Given the description of an element on the screen output the (x, y) to click on. 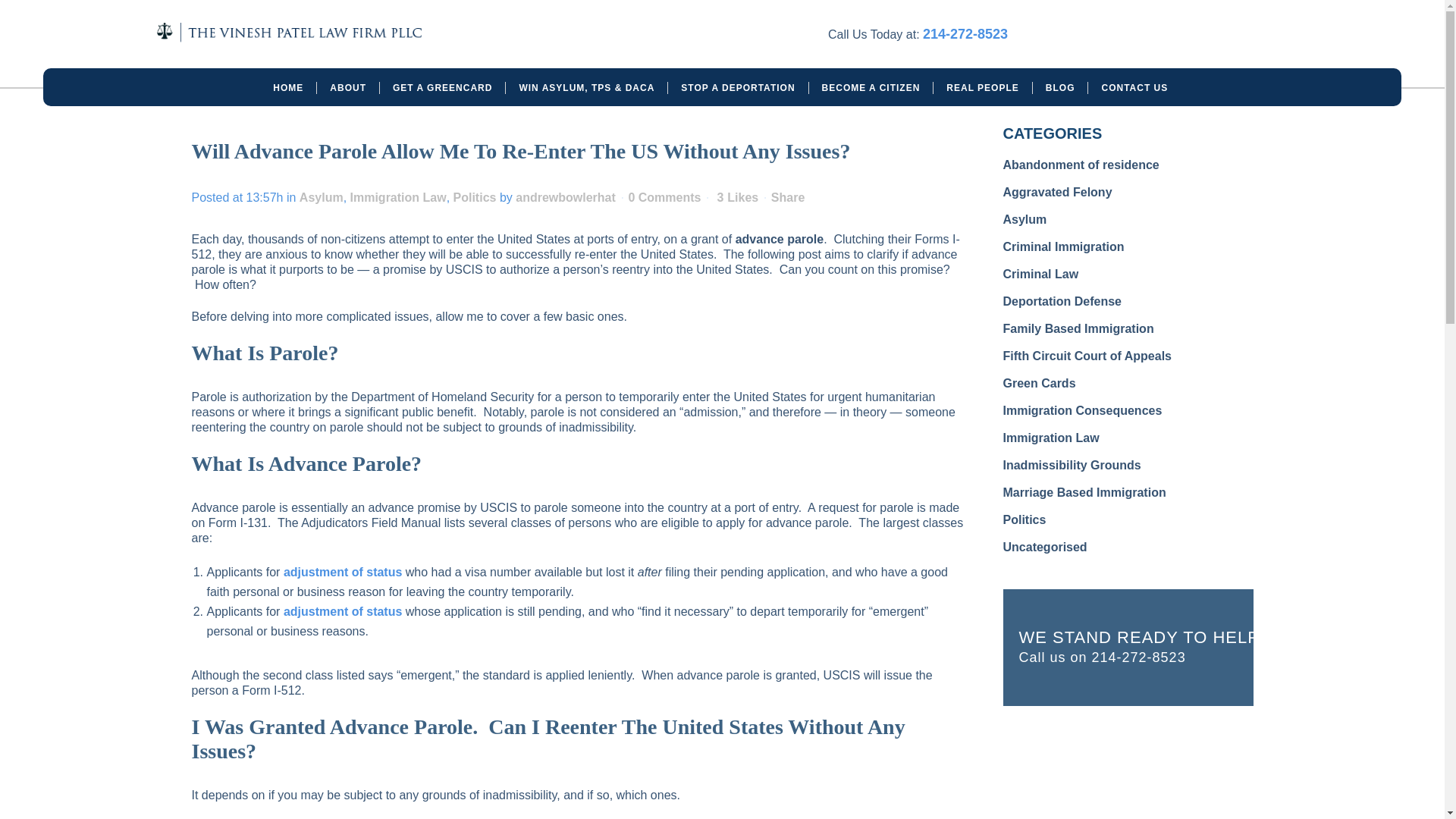
214-272-8523 (965, 33)
STOP A DEPORTATION (738, 87)
Like this (737, 197)
HOME (288, 87)
BLOG (1060, 87)
REAL PEOPLE (982, 87)
CONTACT US (1133, 87)
BECOME A CITIZEN (871, 87)
GET A GREENCARD (442, 87)
ABOUT (348, 87)
